Given the description of an element on the screen output the (x, y) to click on. 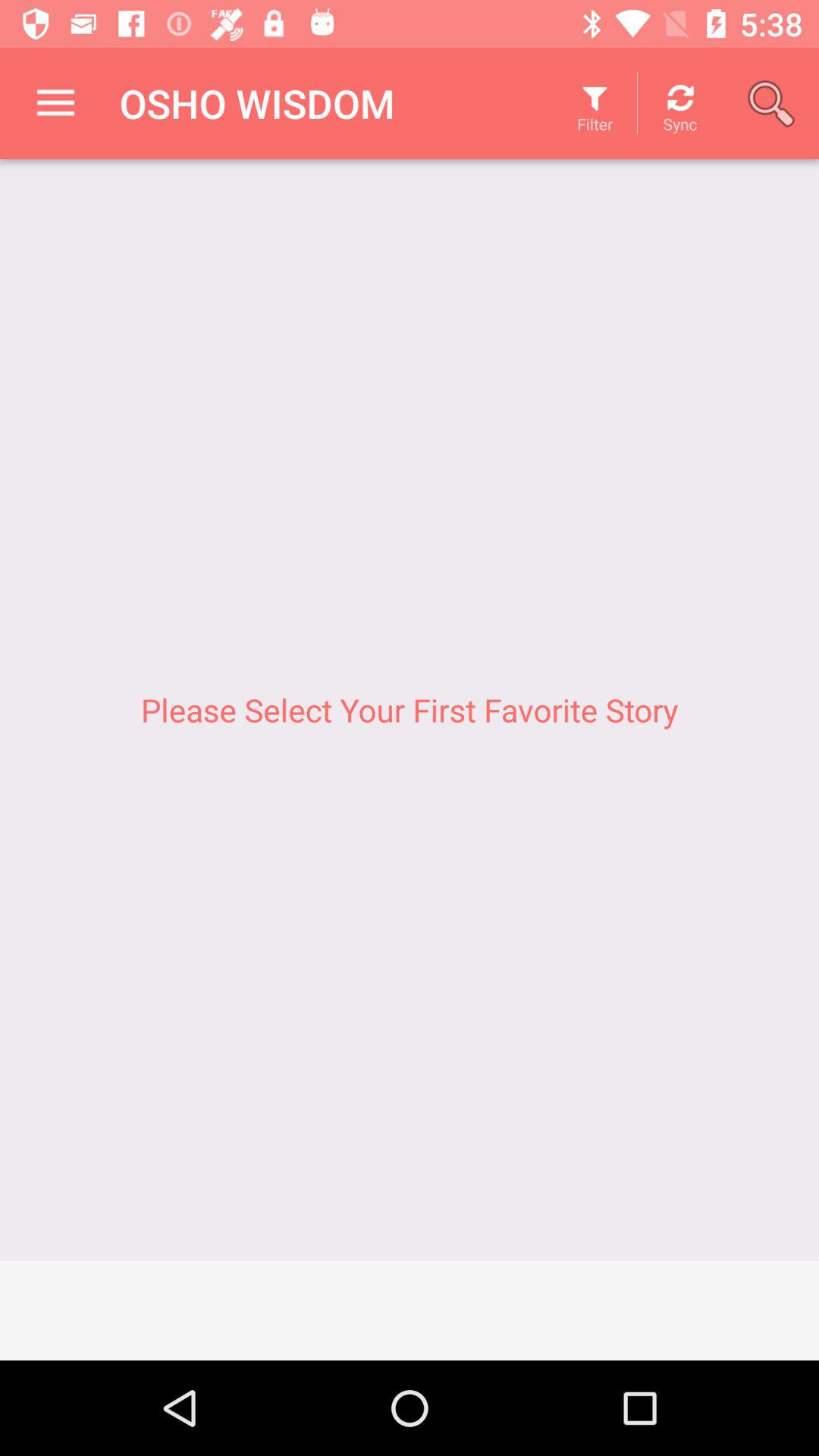
click icon above the please select your (771, 103)
